Given the description of an element on the screen output the (x, y) to click on. 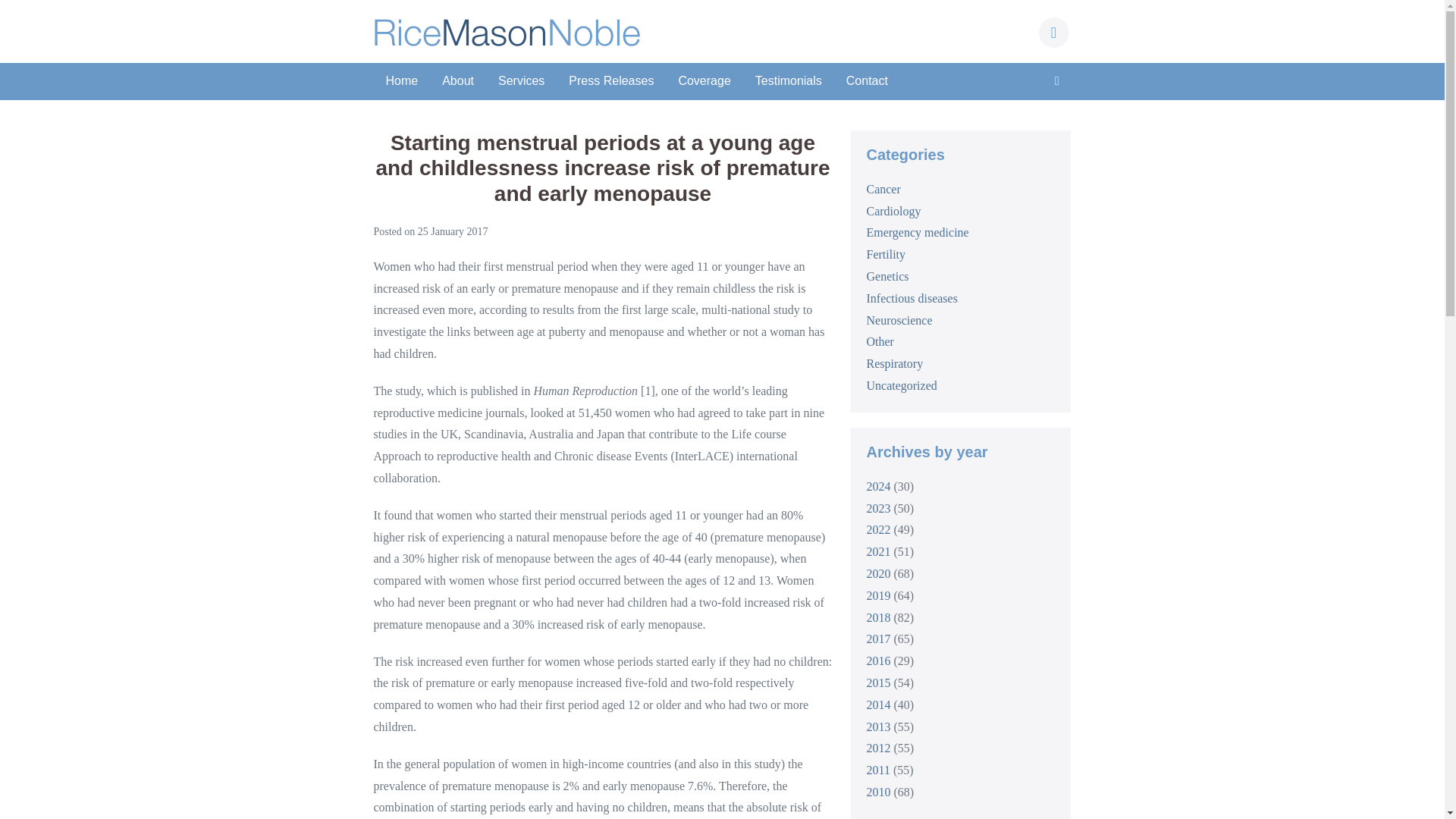
2022 (877, 529)
Genetics (887, 276)
Respiratory (894, 363)
Neuroscience (898, 319)
RiceMasonNoble (506, 32)
Coverage (703, 81)
Contact (866, 81)
2021 (877, 551)
Infectious diseases (911, 297)
Press Releases (610, 81)
